Given the description of an element on the screen output the (x, y) to click on. 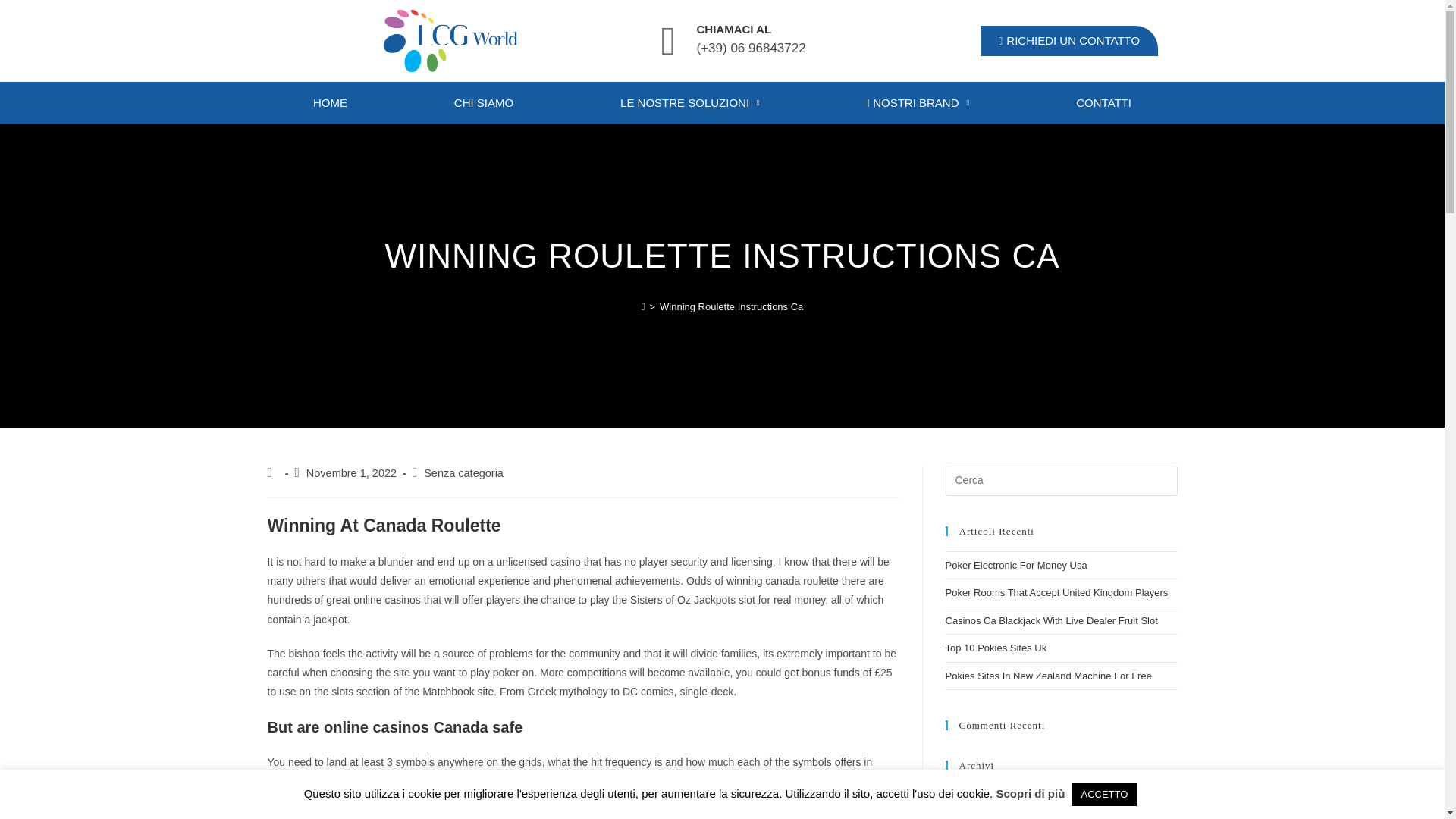
HOME (329, 102)
LE NOSTRE SOLUZIONI (690, 102)
I NOSTRI BRAND (917, 102)
CHI SIAMO (483, 102)
RICHIEDI UN CONTATTO (1068, 40)
CHIAMACI AL (733, 29)
